Given the description of an element on the screen output the (x, y) to click on. 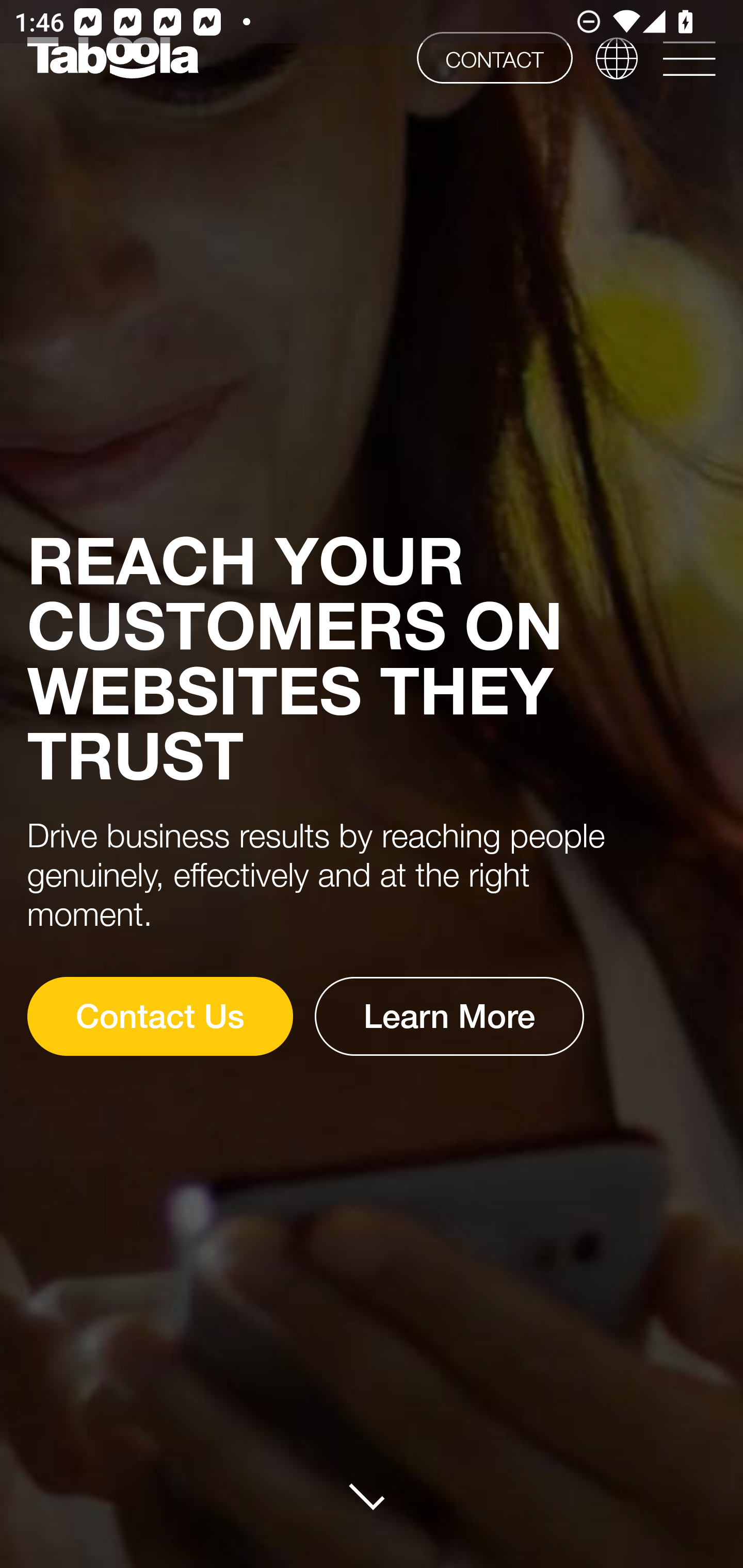
CONTACT (494, 56)
www.taboola (112, 57)
Contact Us (159, 1015)
Learn More (449, 1015)
#partners (372, 1496)
